Given the description of an element on the screen output the (x, y) to click on. 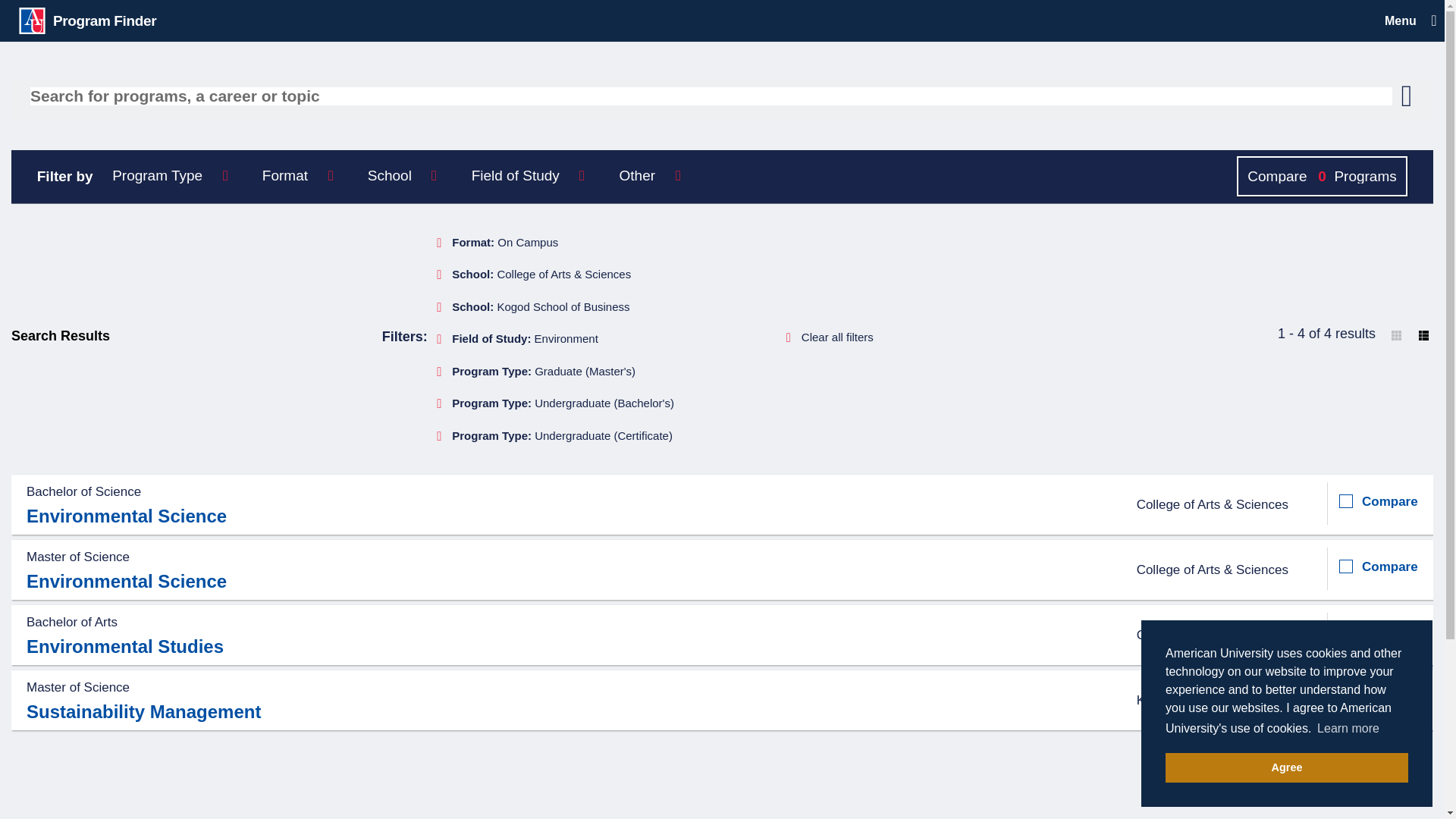
Remove 'School: Kogod School of Business' (536, 307)
Display results as a list (1423, 335)
Remove 'Format: On Campus' (500, 242)
Remove 'Field of Study: Environment' (520, 338)
Agree (1286, 767)
Learn more (1347, 728)
Skip to main content (485, 7)
Display results as cards (1396, 335)
Menu (1406, 20)
